Given the description of an element on the screen output the (x, y) to click on. 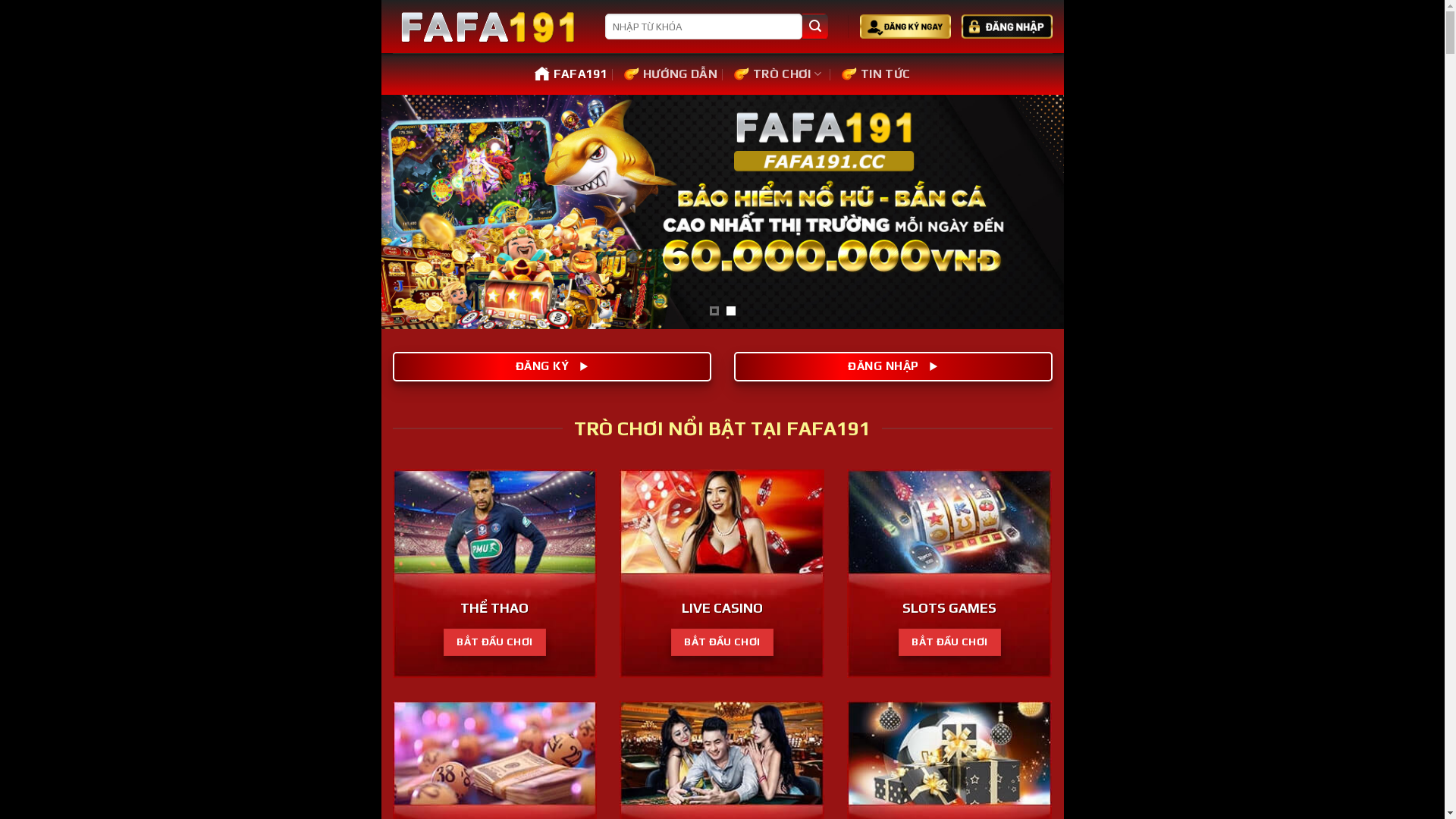
FAFA191 Element type: text (570, 74)
